Given the description of an element on the screen output the (x, y) to click on. 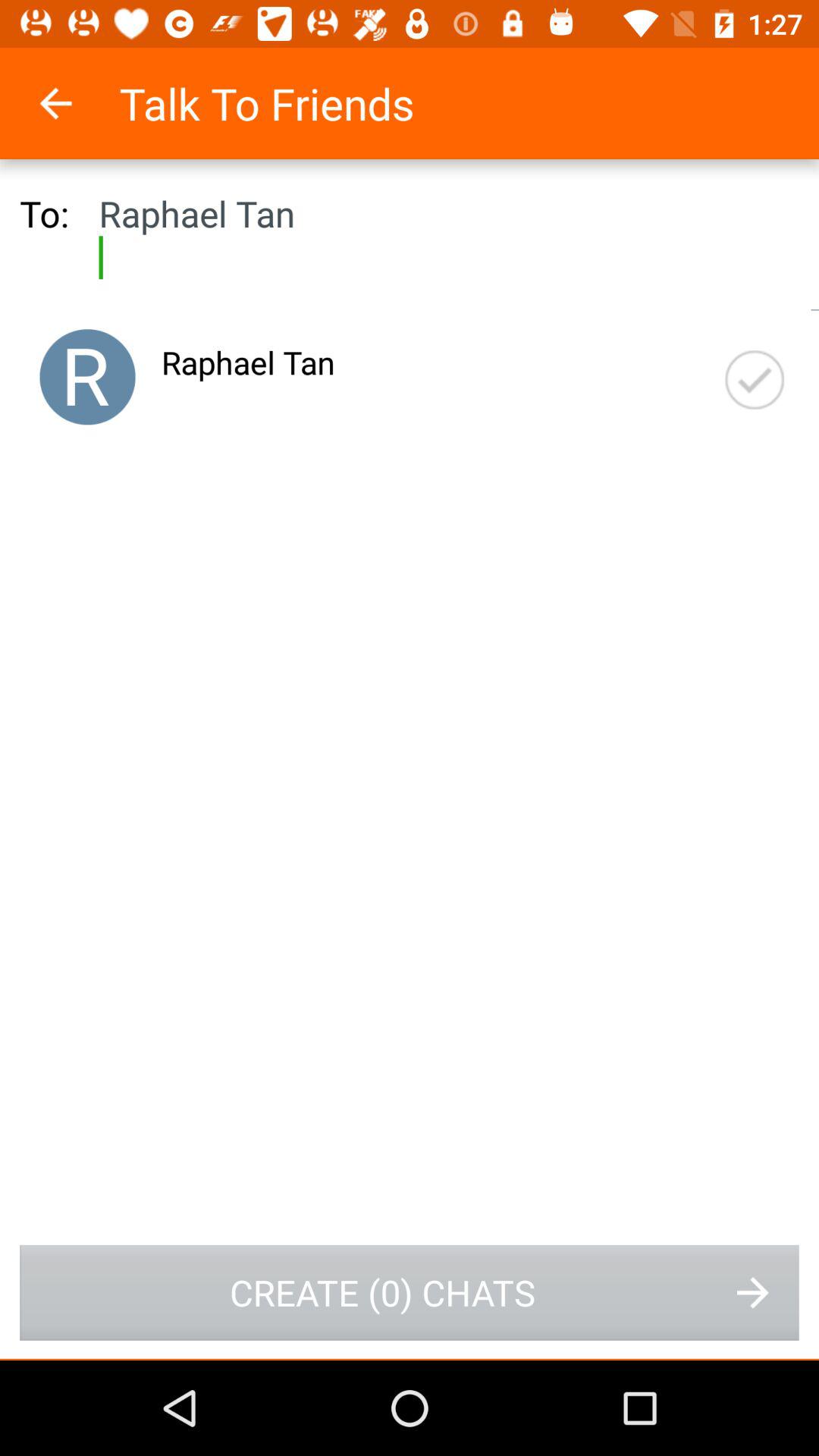
launch item next to the raphael tan
 item (87, 376)
